Given the description of an element on the screen output the (x, y) to click on. 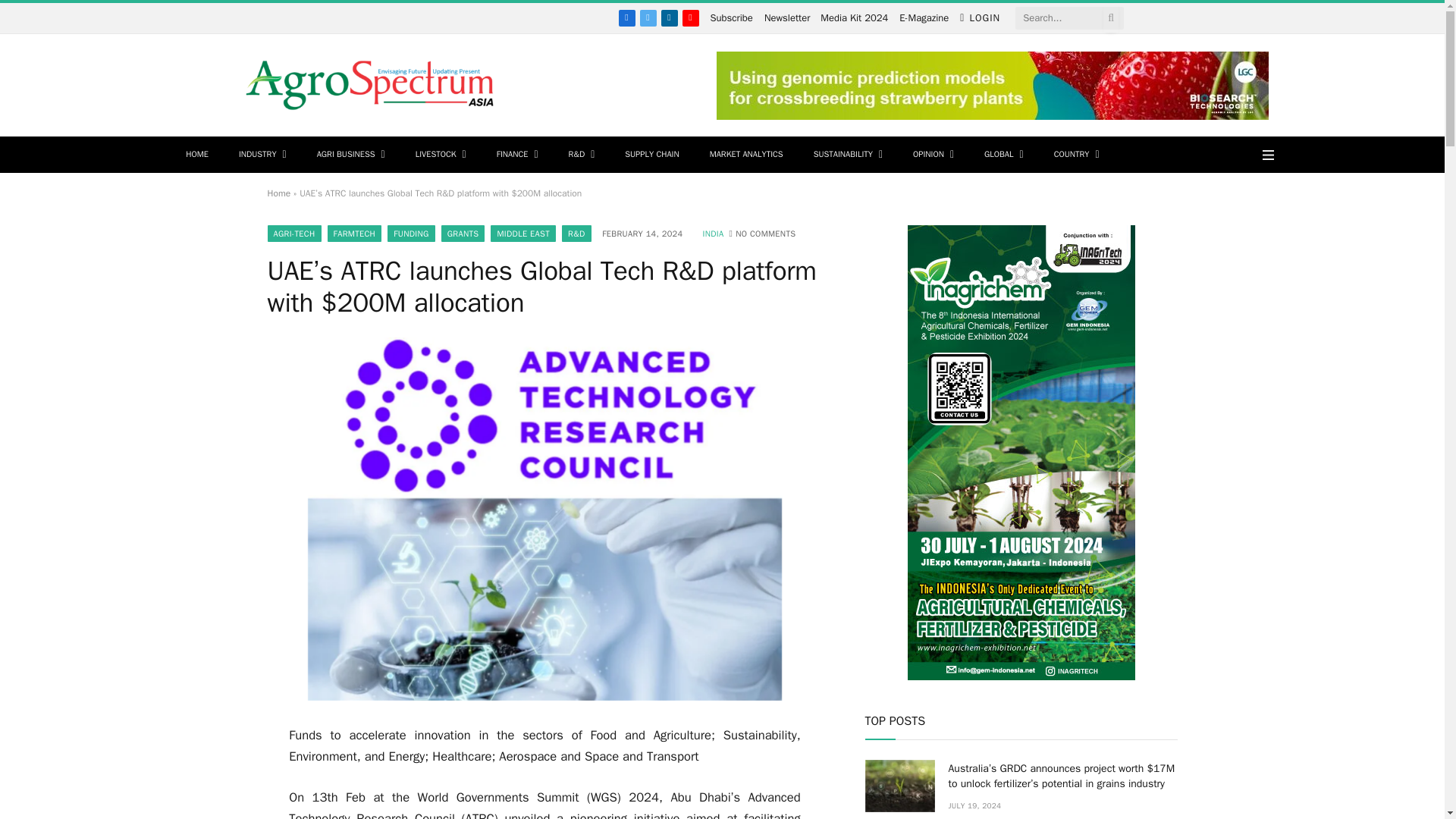
AgroSpectrum Asia (370, 85)
LOGIN (979, 18)
Facebook (626, 17)
E-Magazine (924, 17)
HOME (197, 154)
INDUSTRY (262, 154)
YouTube (690, 17)
Twitter (648, 17)
Newsletter (786, 17)
Media Kit 2024 (854, 17)
LinkedIn (669, 17)
Subscribe (731, 17)
